Given the description of an element on the screen output the (x, y) to click on. 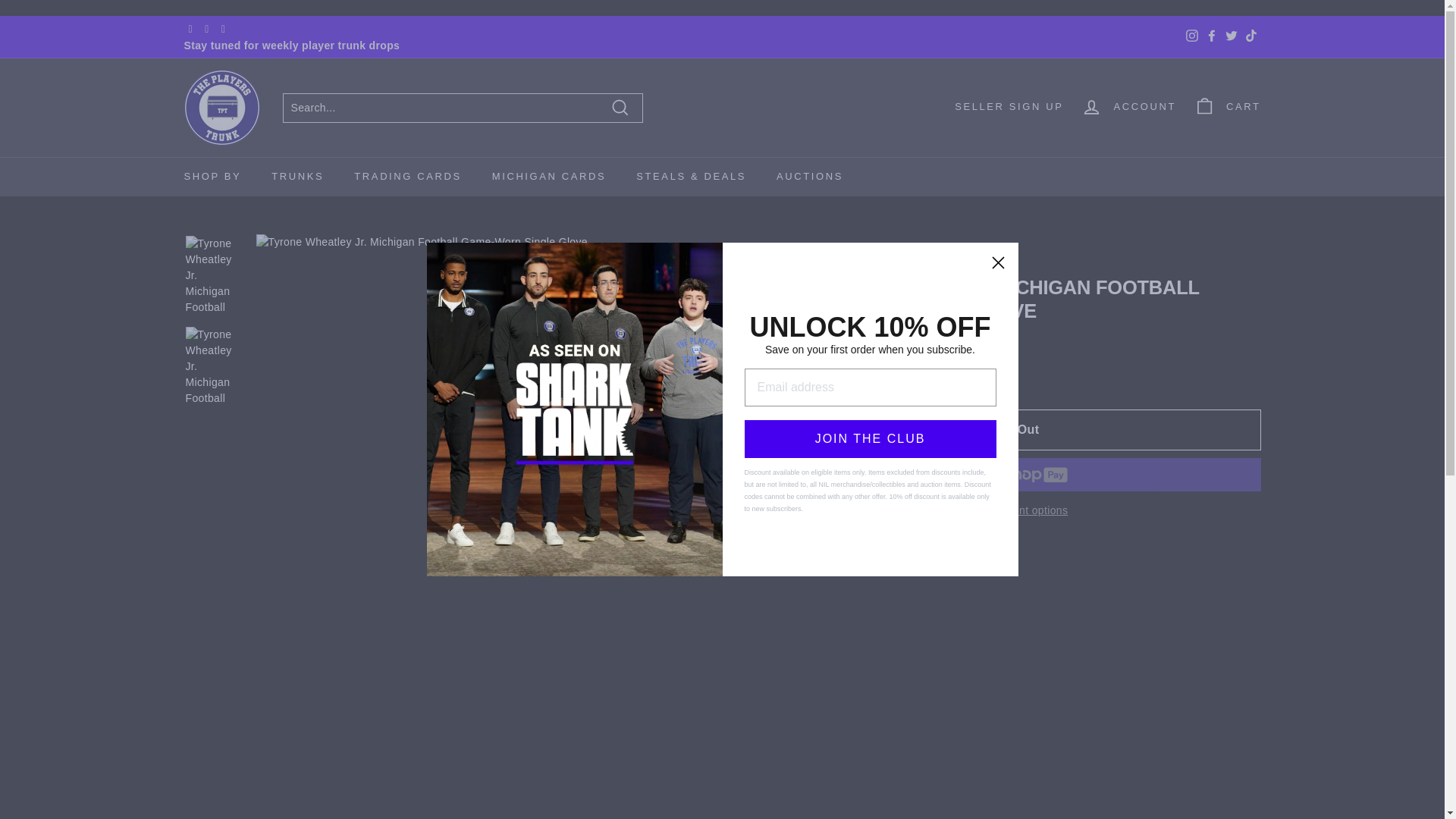
SELLER SIGN UP (1007, 106)
The Players Trunk on Facebook (1211, 36)
Instagram (1190, 36)
TikTok (1250, 36)
ACCOUNT (1128, 106)
Twitter (1230, 36)
The Players Trunk on Twitter (1230, 36)
The Players Trunk on TikTok (1250, 36)
Facebook (1211, 36)
SHOP BY (212, 176)
The Players Trunk on Instagram (1190, 36)
